Given the description of an element on the screen output the (x, y) to click on. 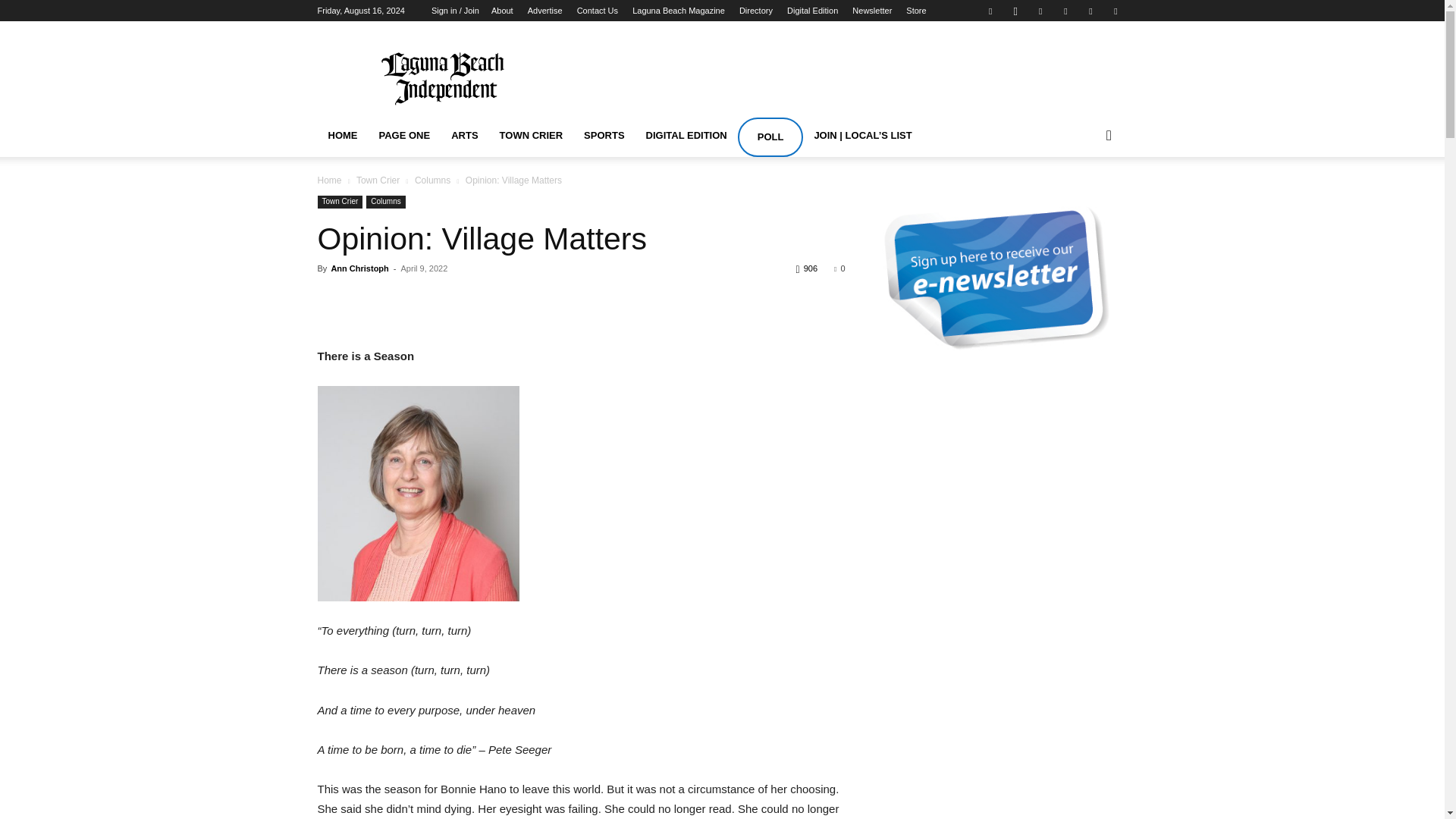
Linkedin (1040, 10)
Twitter (1090, 10)
Instagram (1015, 10)
View all posts in Columns (431, 180)
RSS (1065, 10)
Youtube (1114, 10)
Facebook (989, 10)
View all posts in Town Crier (377, 180)
